Given the description of an element on the screen output the (x, y) to click on. 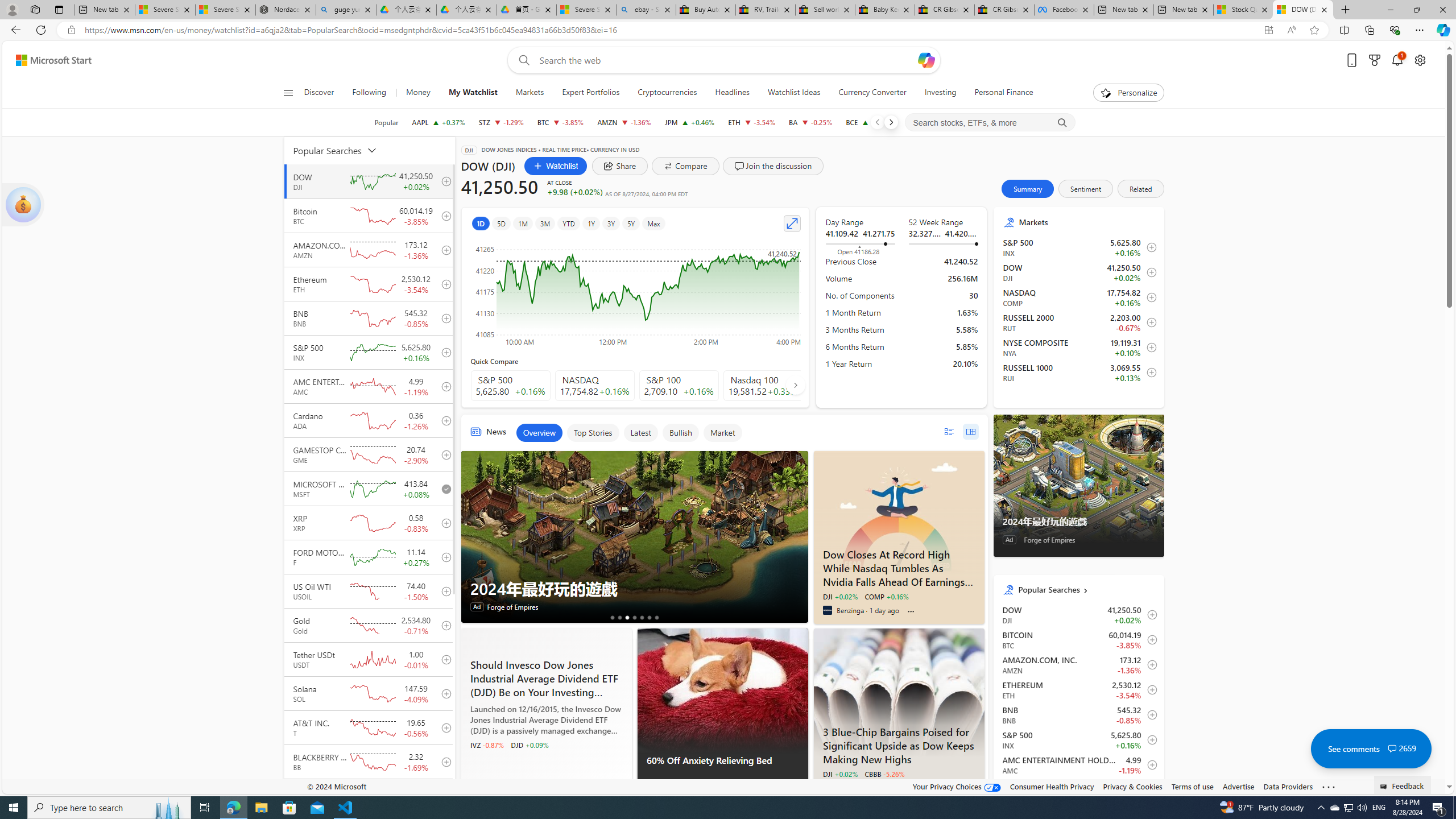
Your Privacy Choices (956, 786)
Privacy & Cookies (1131, 785)
1M (522, 223)
share dialog (619, 166)
Watchlist Ideas (793, 92)
Popular (386, 121)
Notifications (1397, 60)
1Y (590, 223)
Summary (1027, 188)
